Given the description of an element on the screen output the (x, y) to click on. 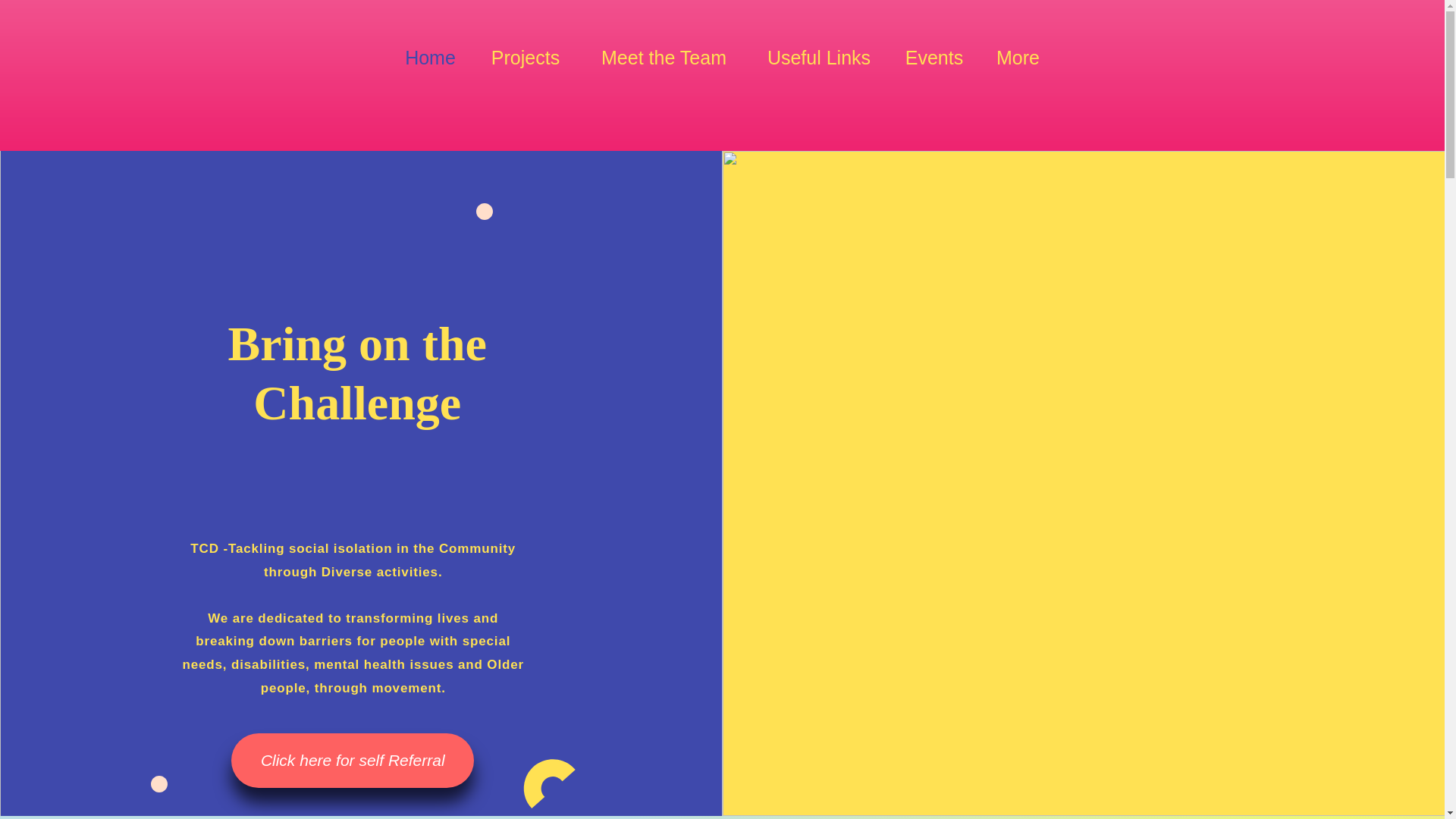
Click here for self Referral (352, 760)
Home (430, 57)
Meet the Team (663, 57)
Events (933, 57)
Useful Links (818, 57)
Projects (525, 57)
